Given the description of an element on the screen output the (x, y) to click on. 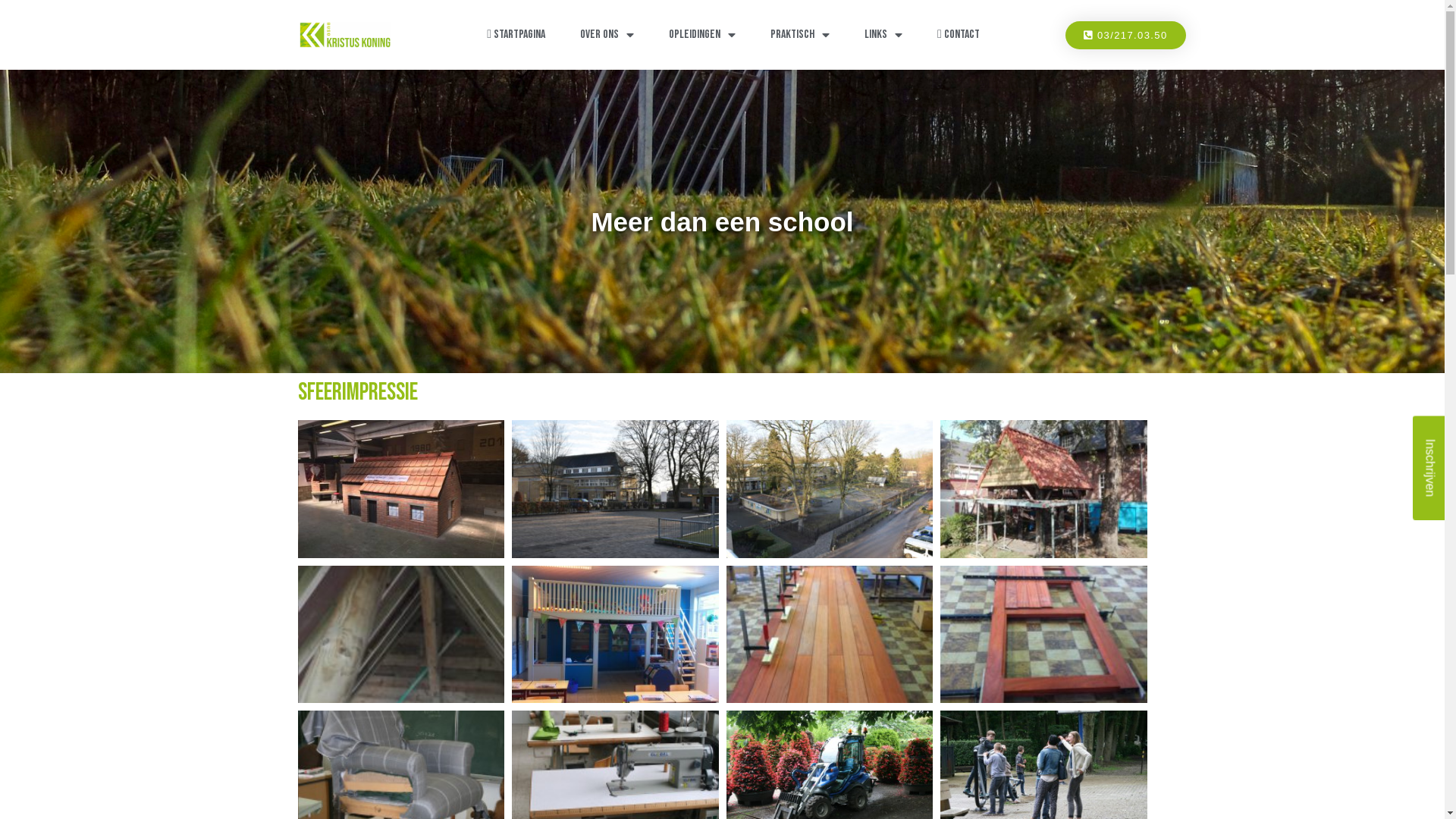
Over Ons Element type: text (606, 34)
Opleidingen Element type: text (701, 34)
Praktisch Element type: text (799, 34)
03/217.03.50 Element type: text (1125, 35)
Links Element type: text (883, 34)
